Given the description of an element on the screen output the (x, y) to click on. 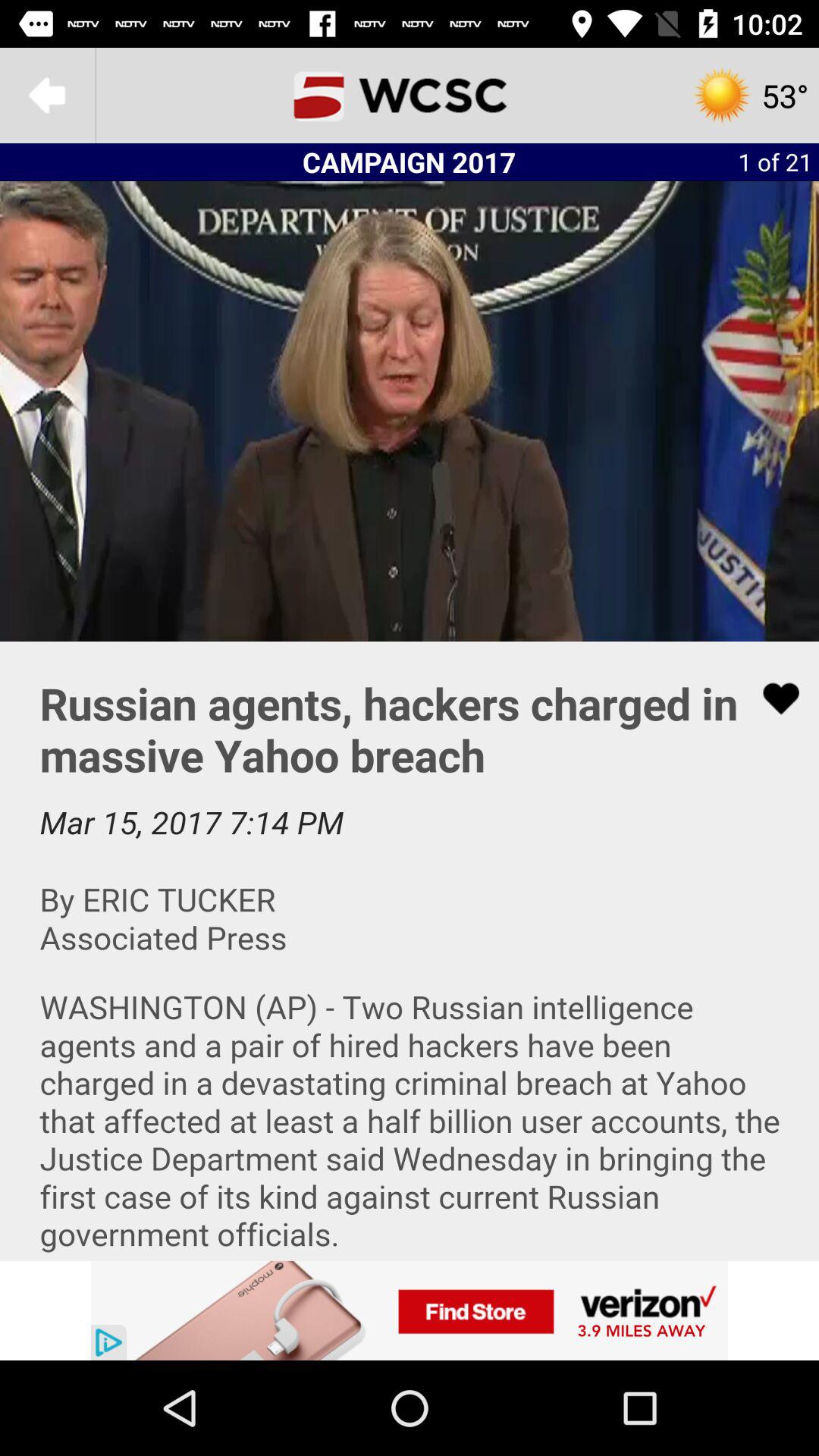
go back (47, 95)
